Given the description of an element on the screen output the (x, y) to click on. 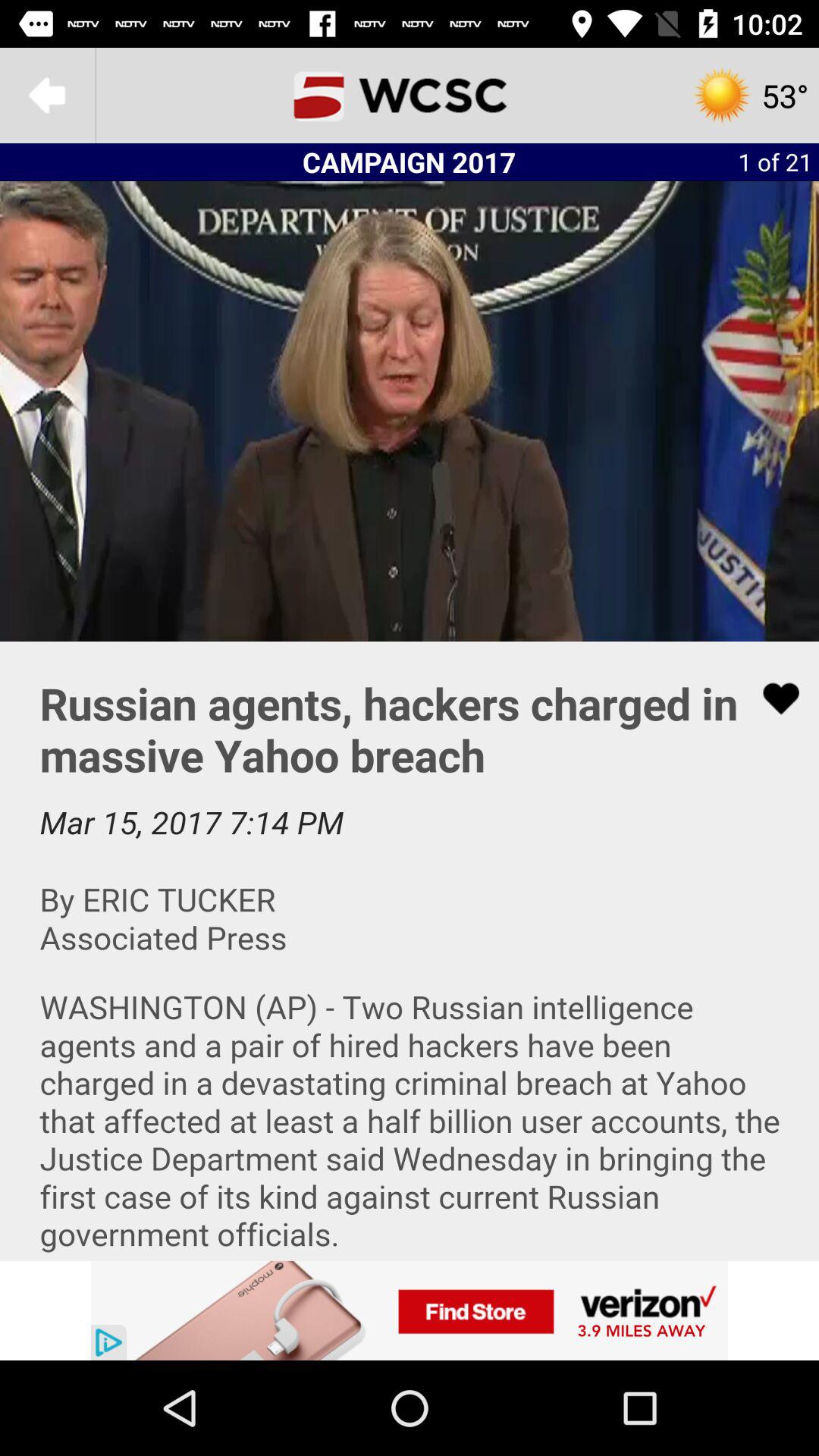
go back (47, 95)
